Given the description of an element on the screen output the (x, y) to click on. 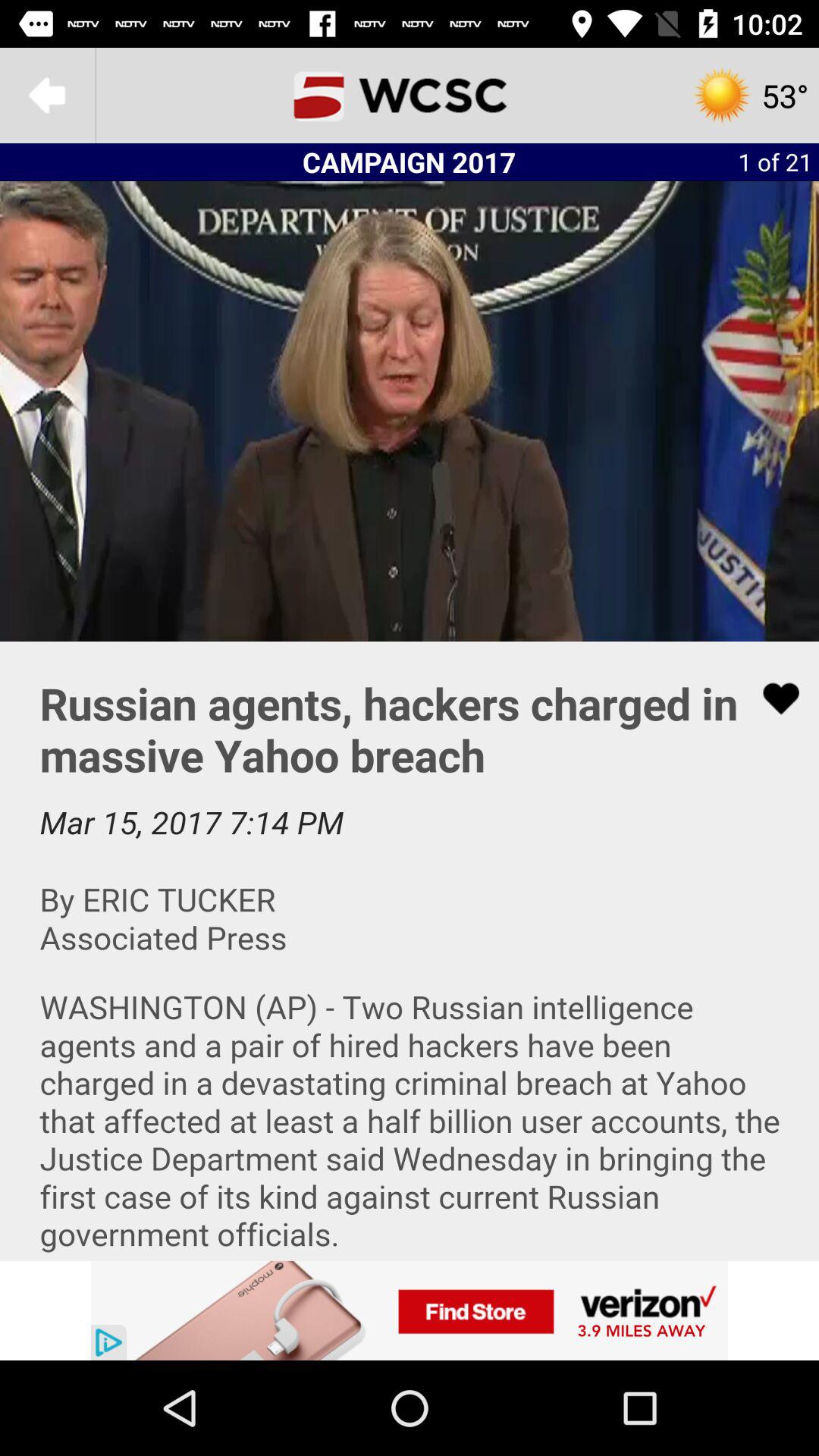
go back (47, 95)
